Given the description of an element on the screen output the (x, y) to click on. 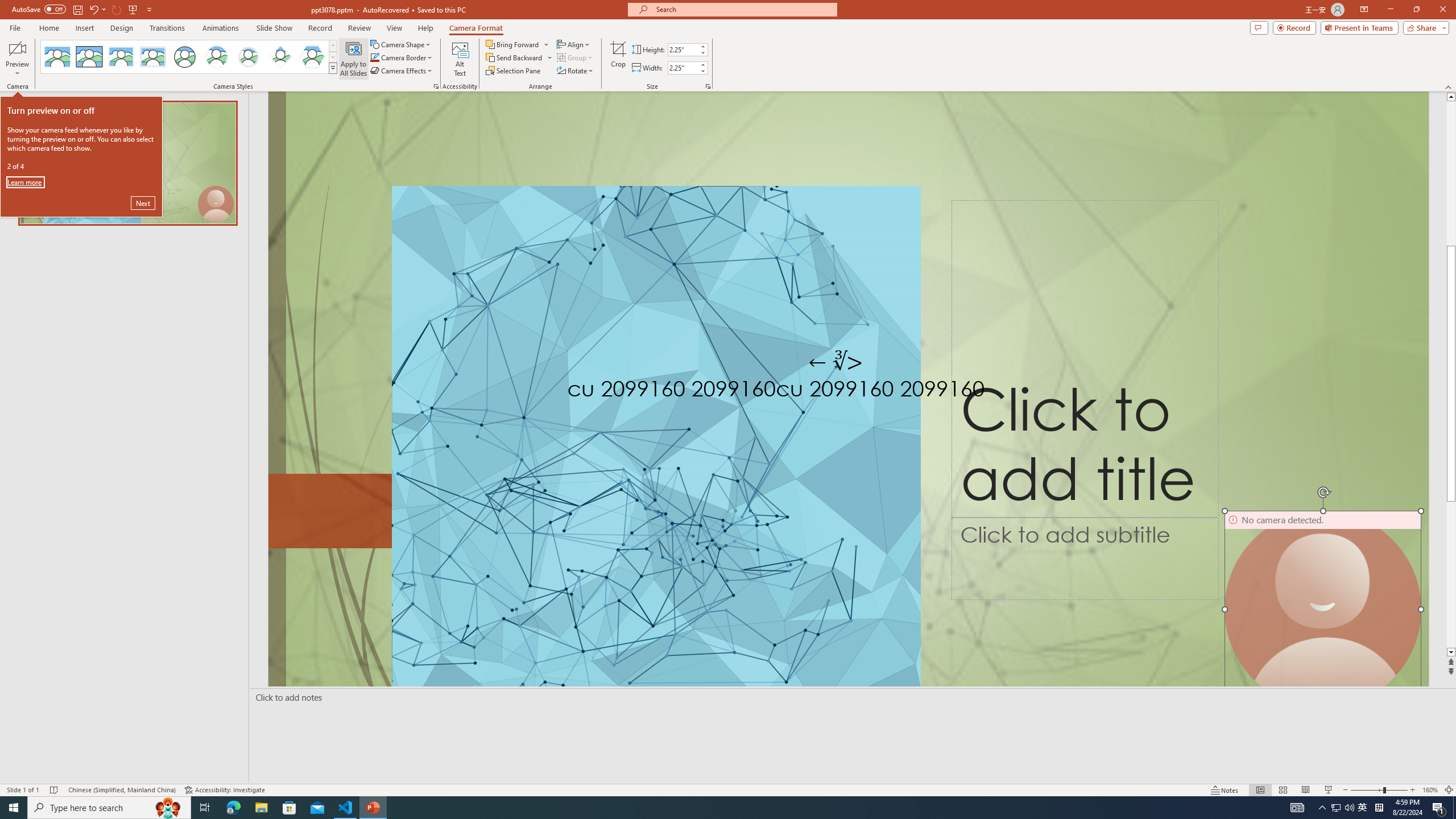
Zoom 160% (1430, 790)
Enable Camera Preview (17, 48)
Soft Edge Rectangle (152, 56)
Next (143, 202)
Camera Border Green, Accent 1 (374, 56)
